Given the description of an element on the screen output the (x, y) to click on. 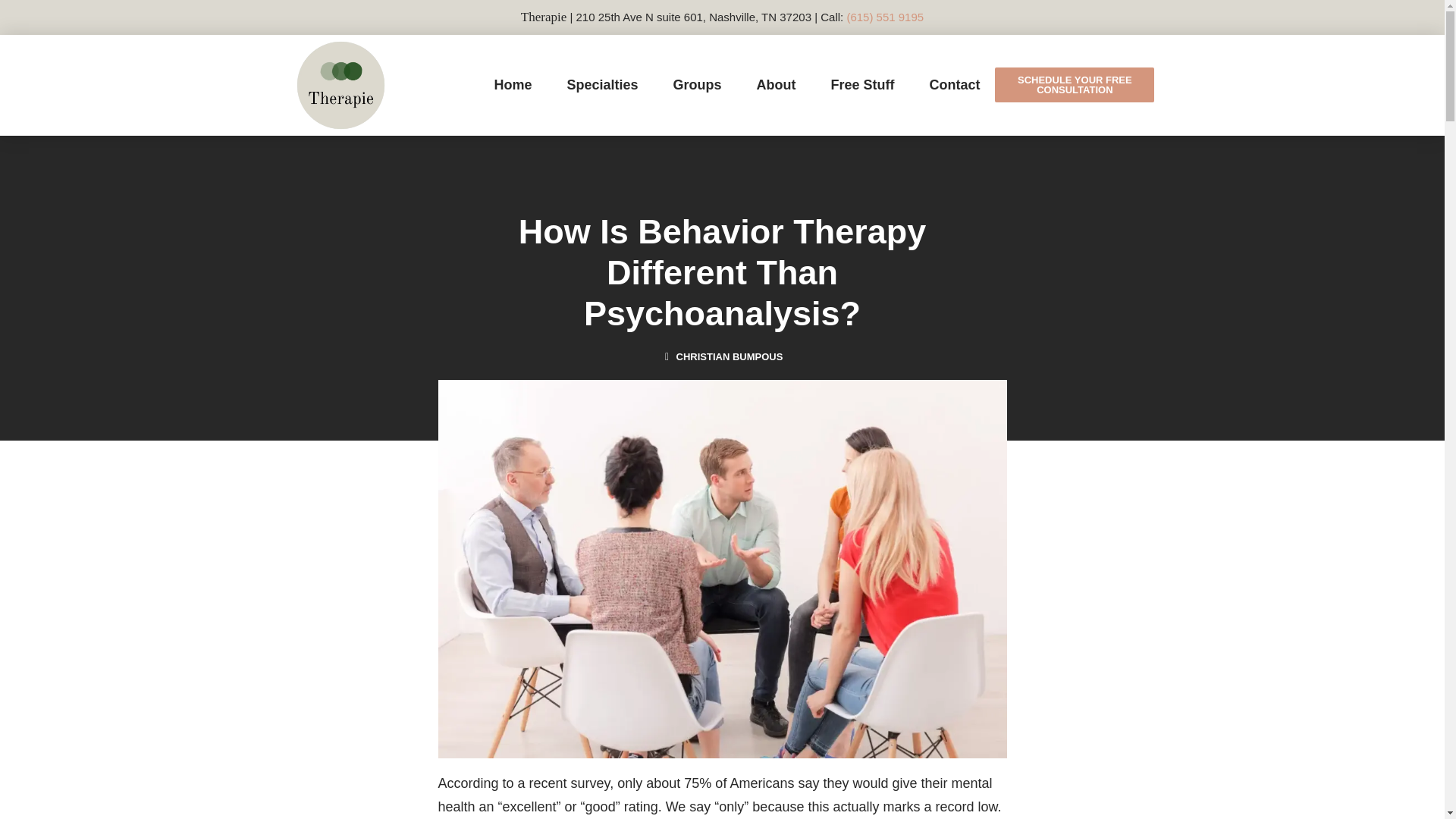
Groups (697, 84)
Specialties (601, 84)
Home (513, 84)
Therapie Logo - Therapie, PLLC (340, 85)
Free Stuff (861, 84)
Contact (954, 84)
About (775, 84)
